Given the description of an element on the screen output the (x, y) to click on. 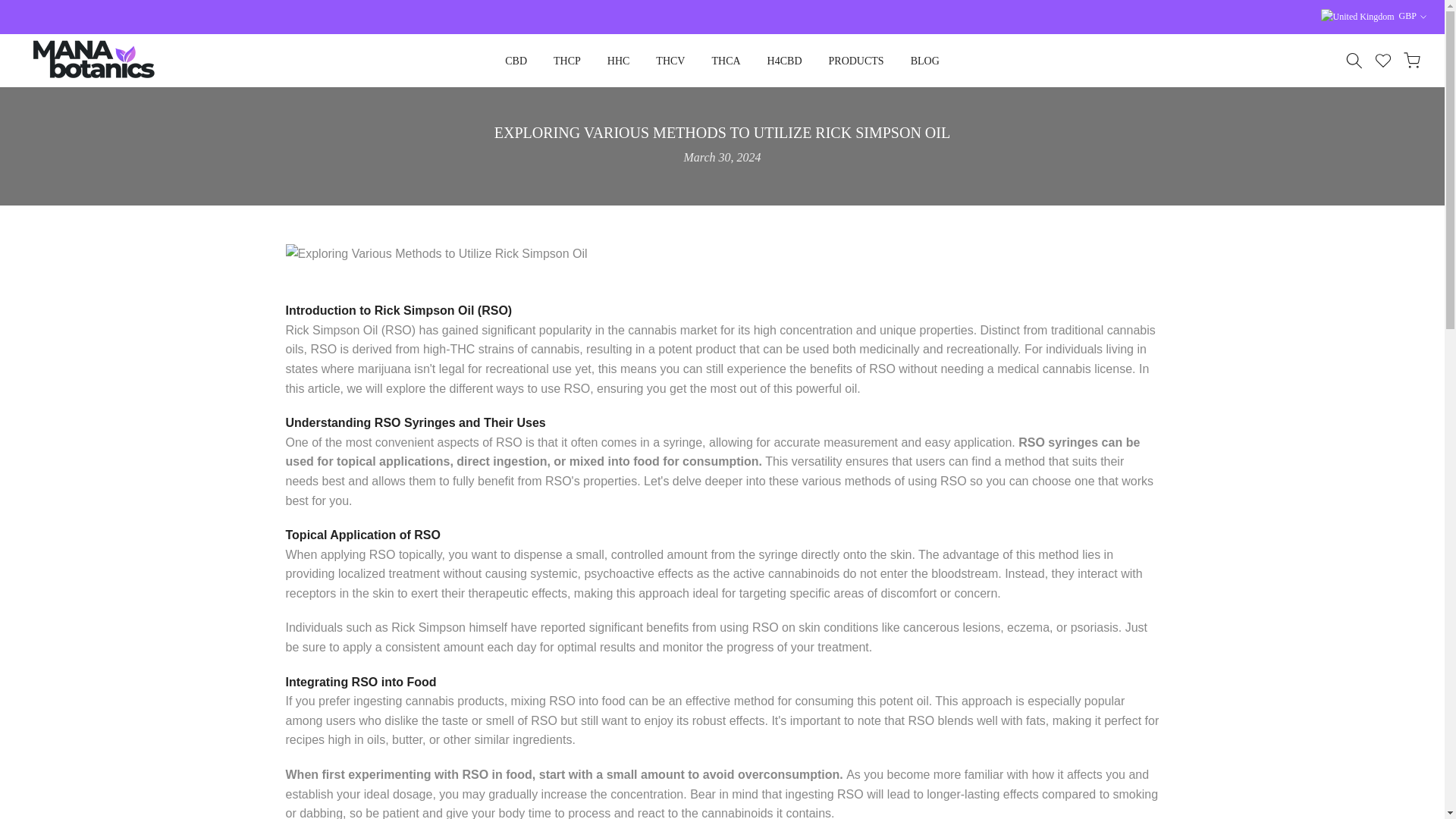
GBP (1373, 16)
THCV (670, 61)
Skip to content (10, 7)
HHC (618, 61)
THCP (567, 61)
PRODUCTS (855, 61)
BLOG (924, 61)
THCA (726, 61)
H4CBD (784, 61)
CBD (516, 61)
